Given the description of an element on the screen output the (x, y) to click on. 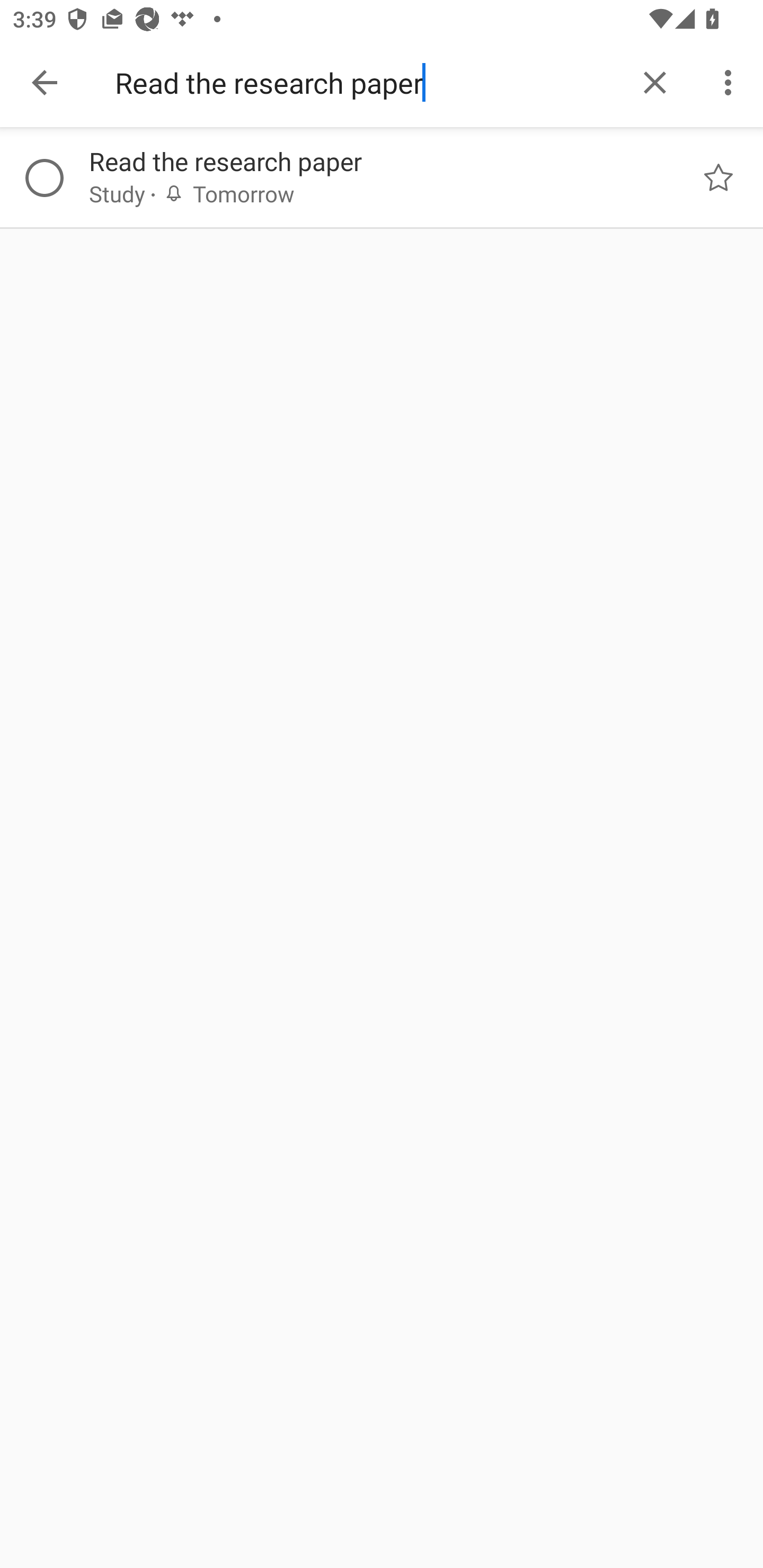
Normal task Read the research paper, Button (718, 177)
